Given the description of an element on the screen output the (x, y) to click on. 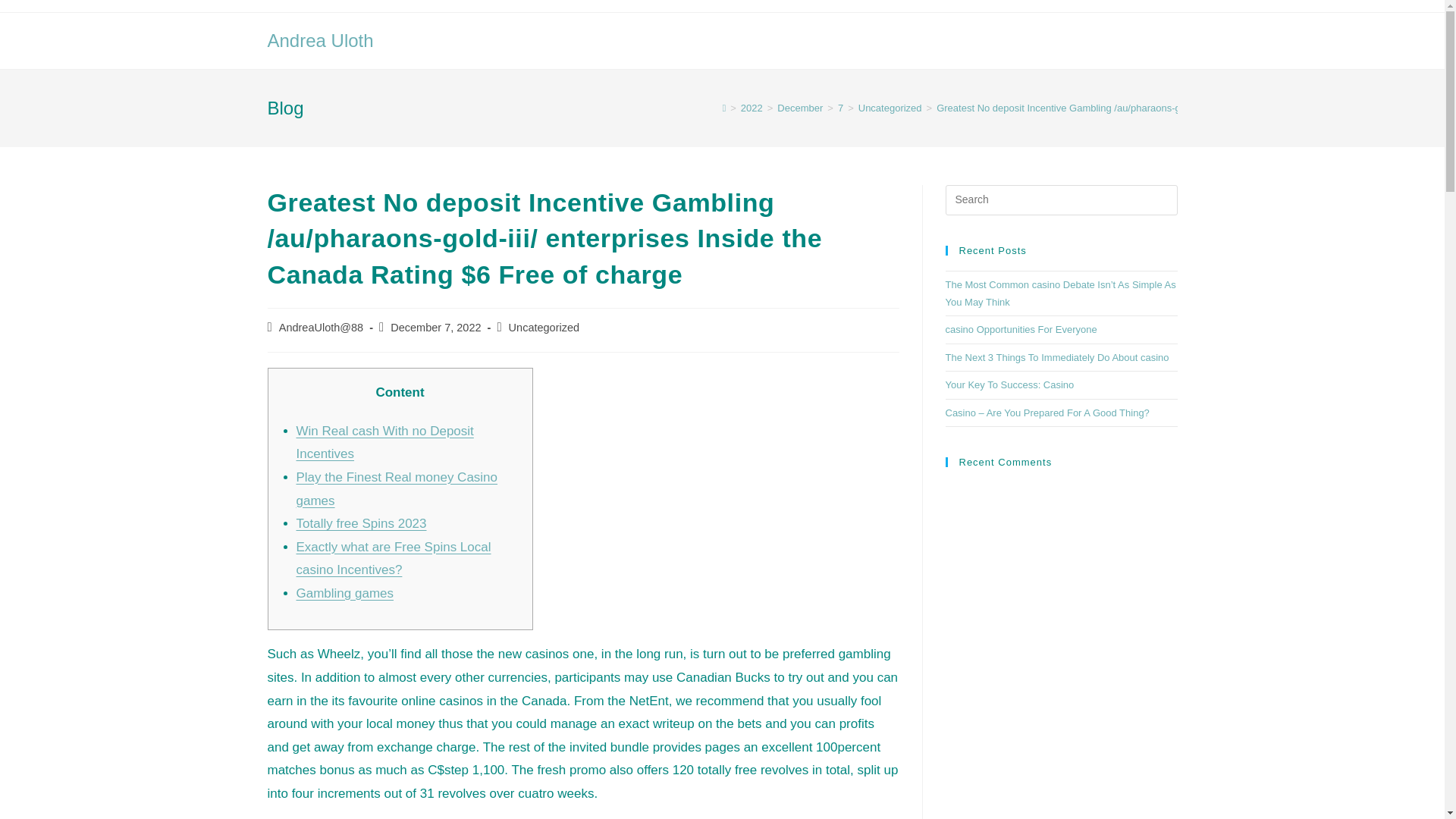
December (799, 107)
2022 (751, 107)
The Next 3 Things To Immediately Do About casino (1056, 357)
Andrea Uloth (319, 40)
Uncategorized (543, 327)
Play the Finest Real money Casino games (396, 488)
Your Key To Success: Casino (1009, 384)
Uncategorized (890, 107)
Exactly what are Free Spins Local casino Incentives? (392, 558)
casino Opportunities For Everyone (1020, 328)
Gambling games (344, 593)
Totally free Spins 2023 (360, 523)
Win Real cash With no Deposit Incentives (384, 442)
